Given the description of an element on the screen output the (x, y) to click on. 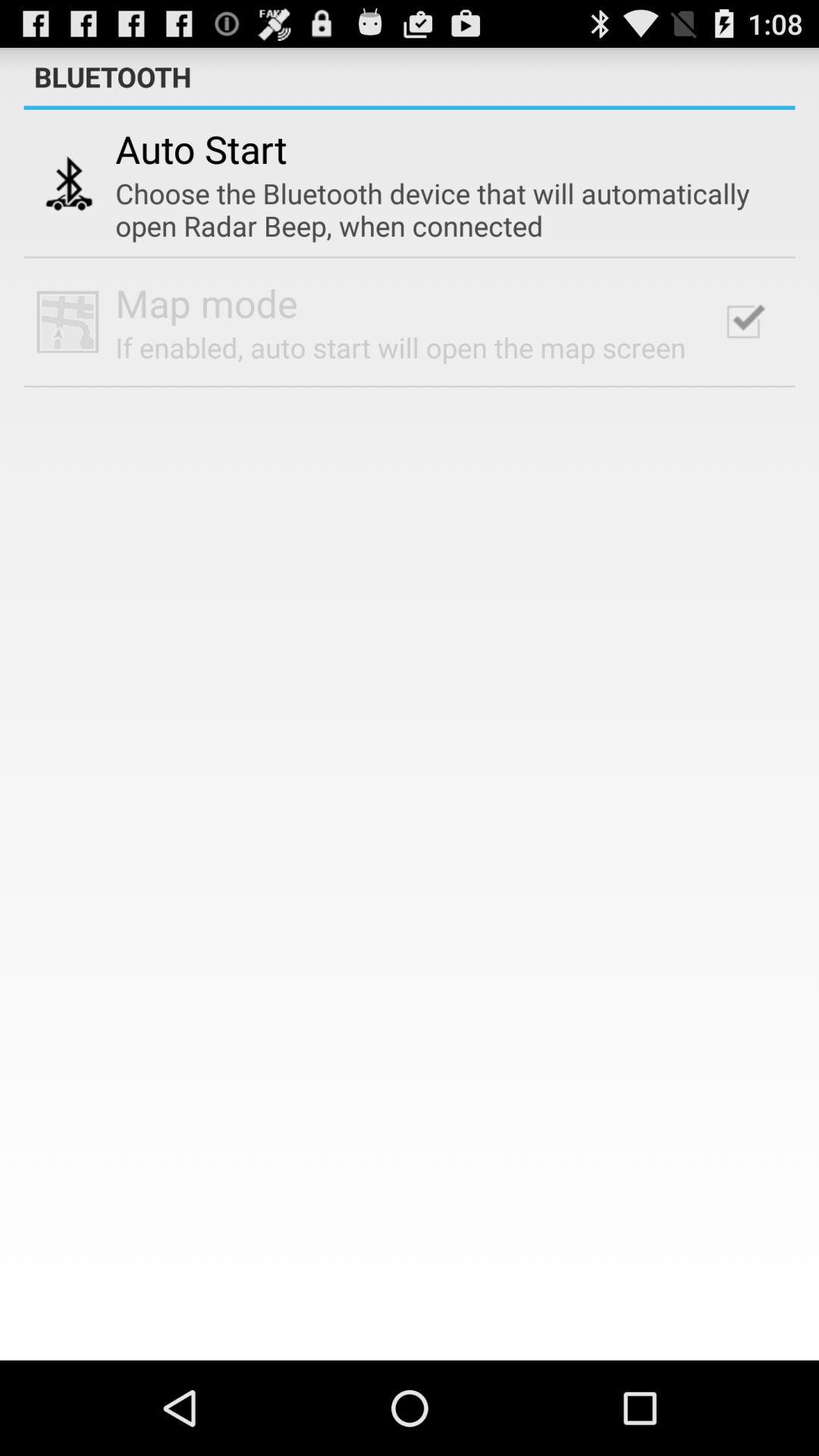
swipe to the if enabled auto app (400, 347)
